Given the description of an element on the screen output the (x, y) to click on. 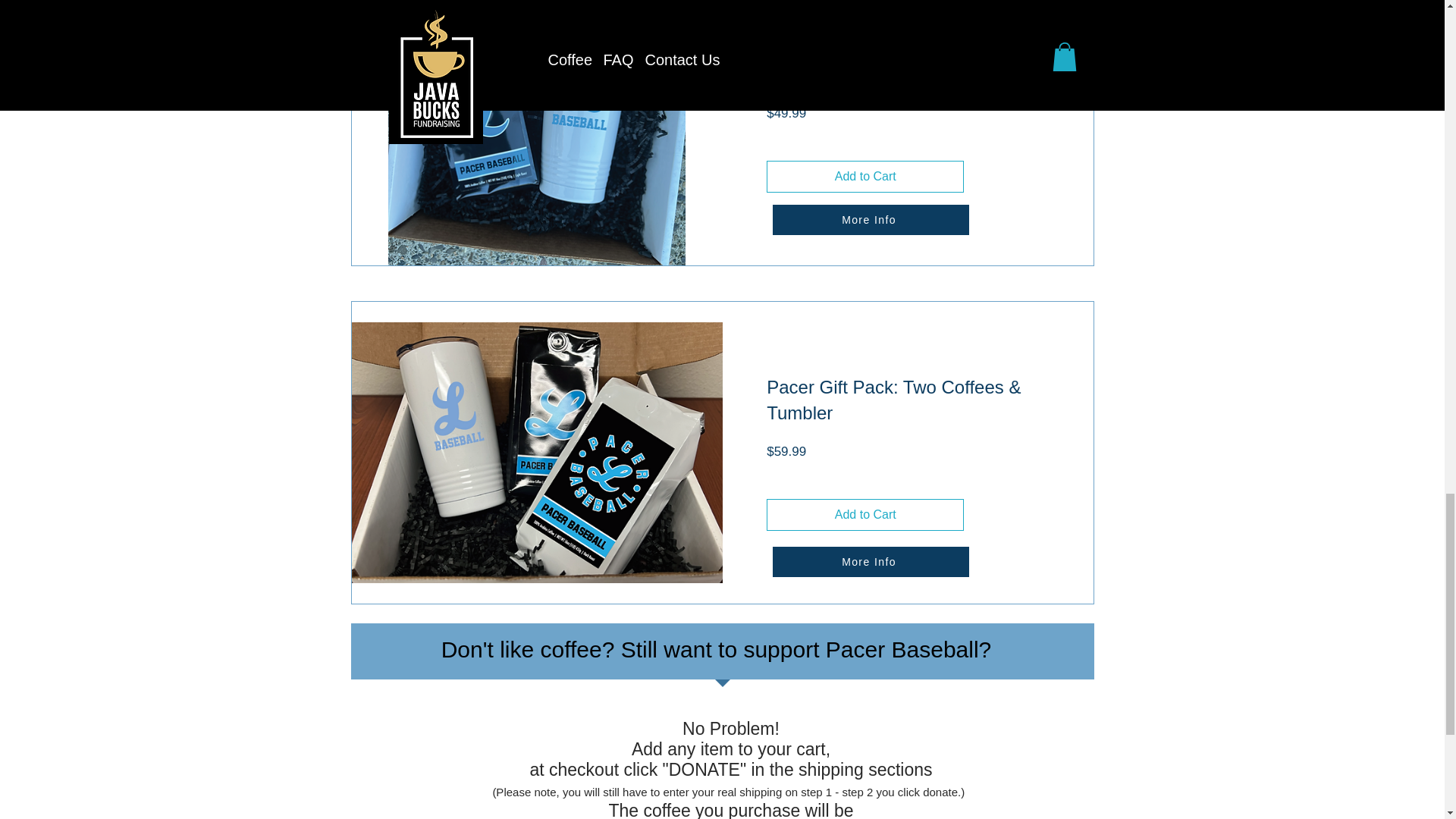
More Info (869, 219)
More Info (869, 562)
Add to Cart (865, 514)
Button (874, 525)
Add to Cart (865, 176)
